Given the description of an element on the screen output the (x, y) to click on. 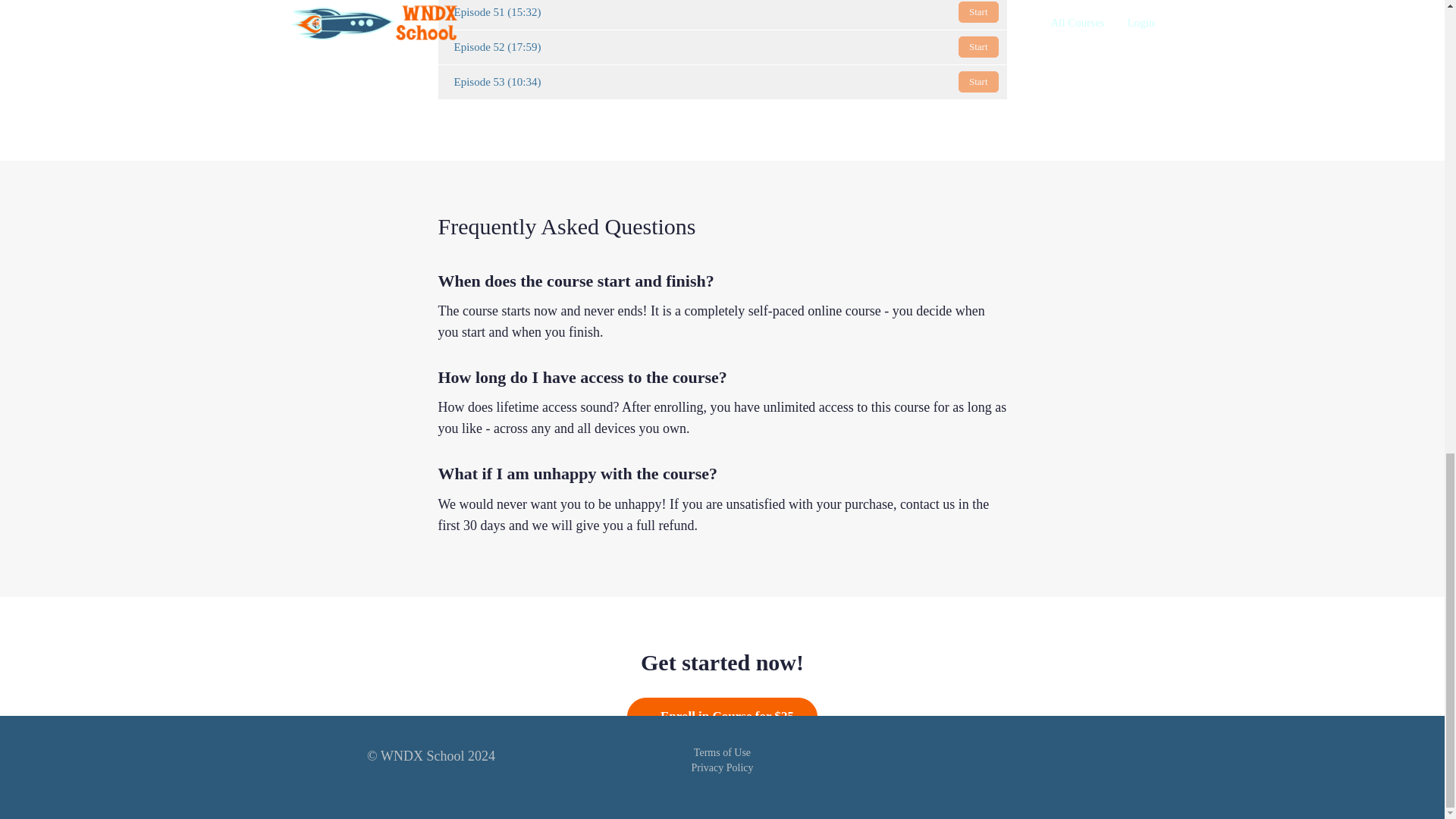
Terms of Use (722, 752)
Privacy Policy (721, 767)
